Given the description of an element on the screen output the (x, y) to click on. 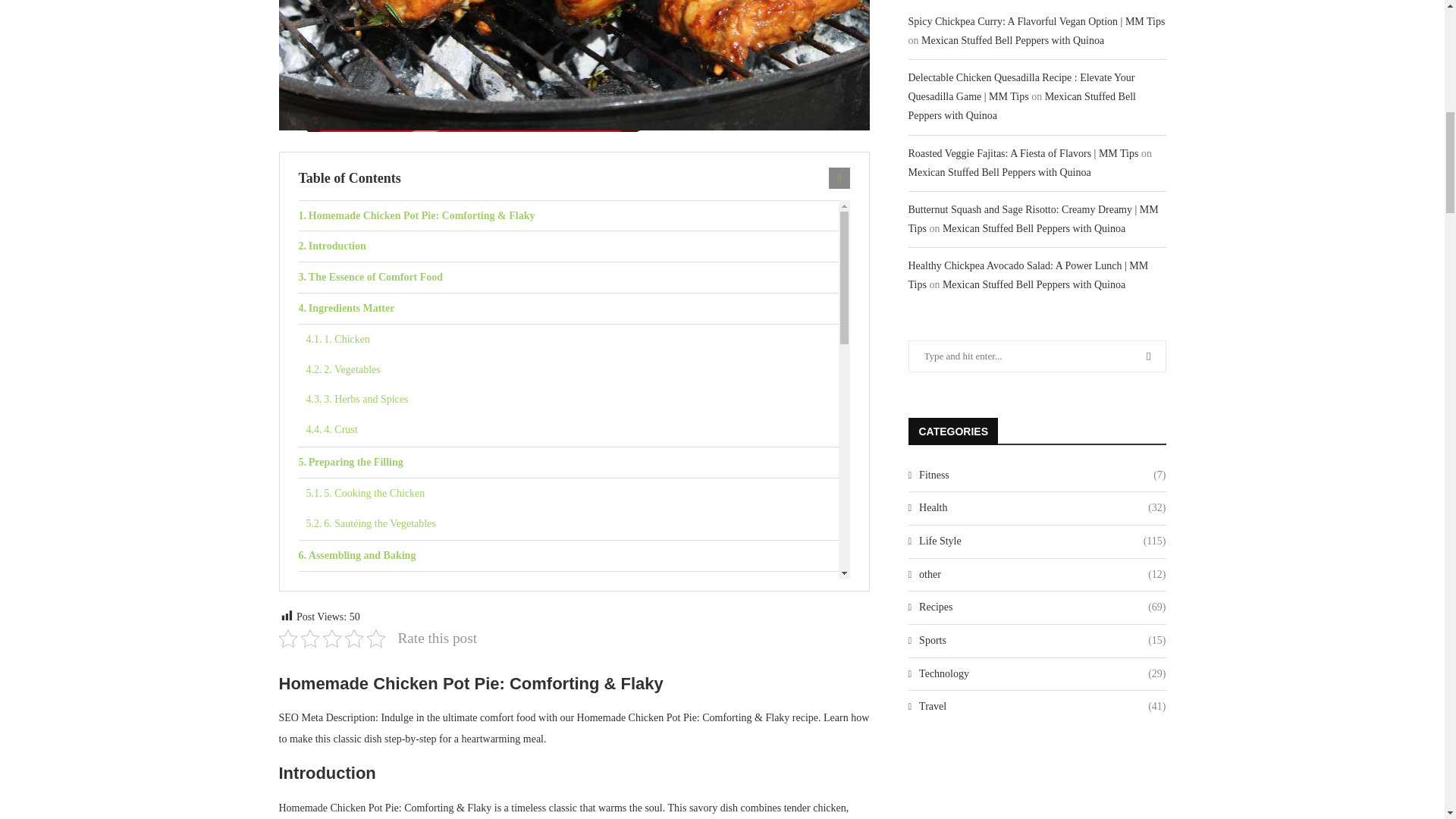
1. Chicken (572, 339)
5. Cooking the Chicken (572, 493)
Chicken Pot Pie (574, 65)
The Essence of Comfort Food (569, 277)
4. Crust (572, 429)
2. Vegetables (572, 369)
Ingredients Matter (569, 308)
3. Herbs and Spices (572, 399)
Introduction (569, 245)
Preparing the Filling (569, 462)
